Given the description of an element on the screen output the (x, y) to click on. 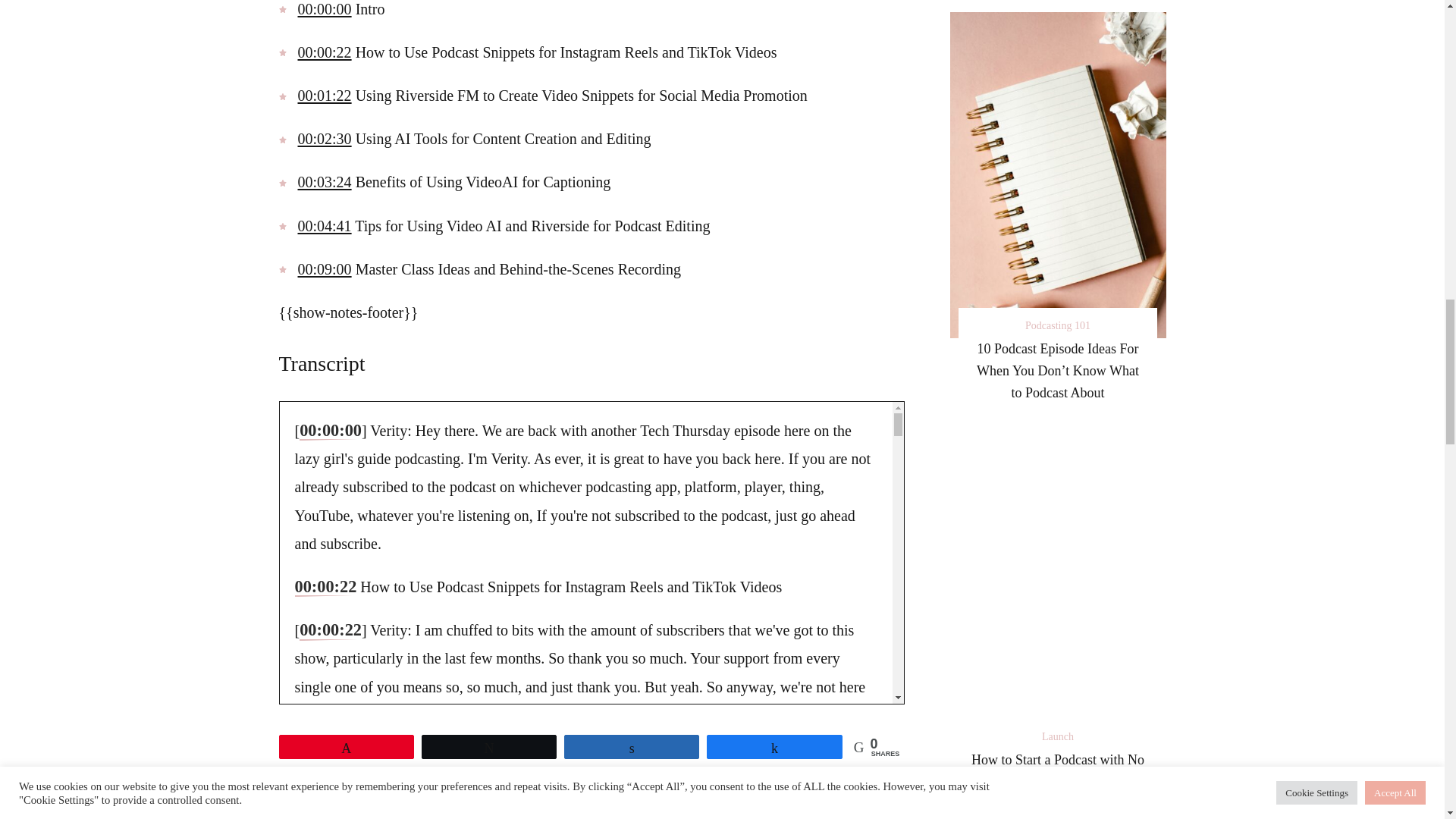
00:01:22 (323, 95)
00:09:00 (323, 269)
00:00:22 (325, 587)
00:00:22 (330, 630)
00:03:24 (323, 181)
00:02:30 (323, 138)
00:00:42 (330, 759)
00:00:22 (323, 52)
00:00:00 (323, 8)
00:00:00 (330, 431)
00:04:41 (323, 225)
